Given the description of an element on the screen output the (x, y) to click on. 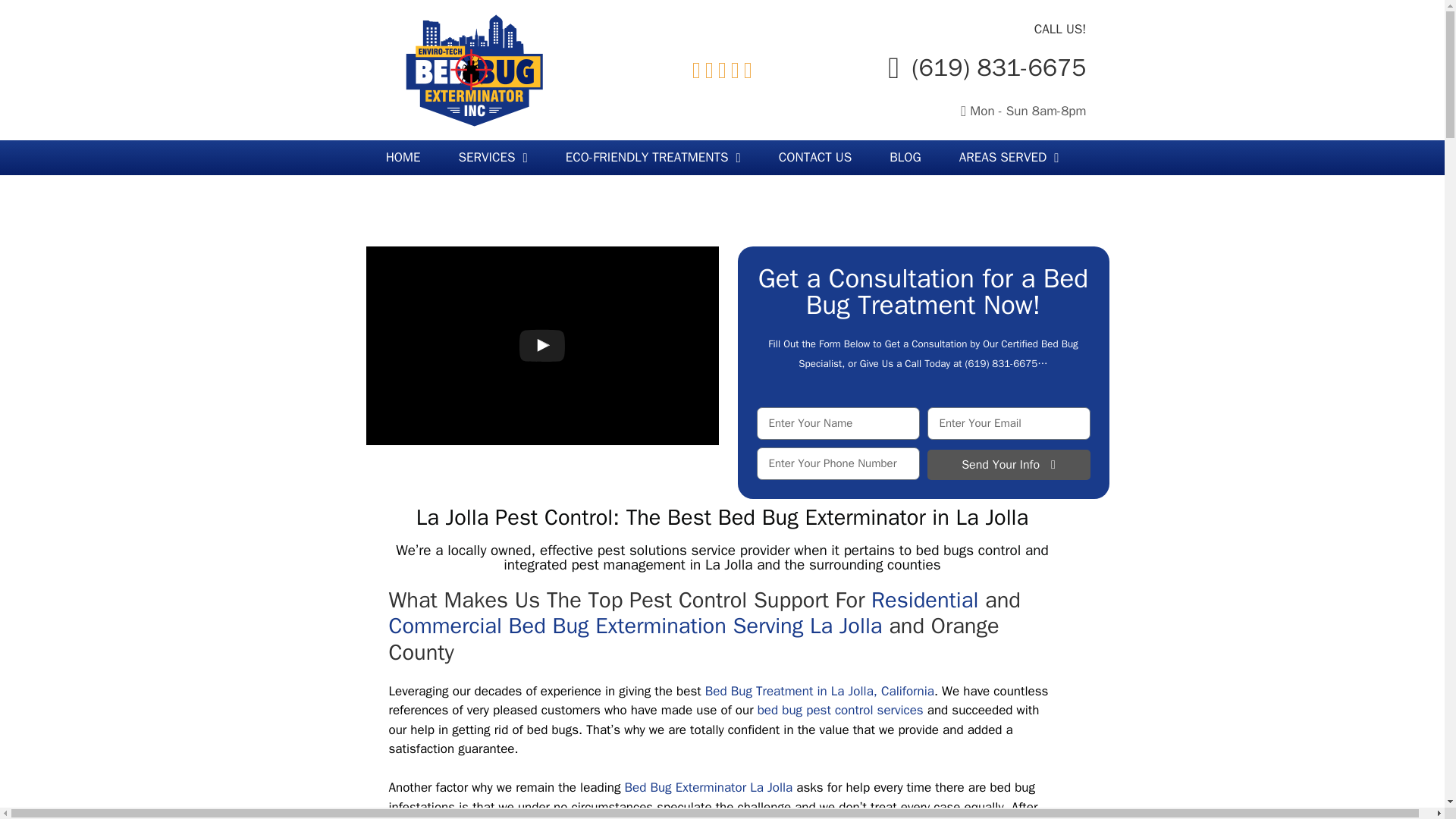
AREAS SERVED (1009, 157)
BLOG (904, 157)
HOME (402, 157)
SERVICES (493, 157)
ECO-FRIENDLY TREATMENTS (653, 157)
CONTACT US (815, 157)
